Given the description of an element on the screen output the (x, y) to click on. 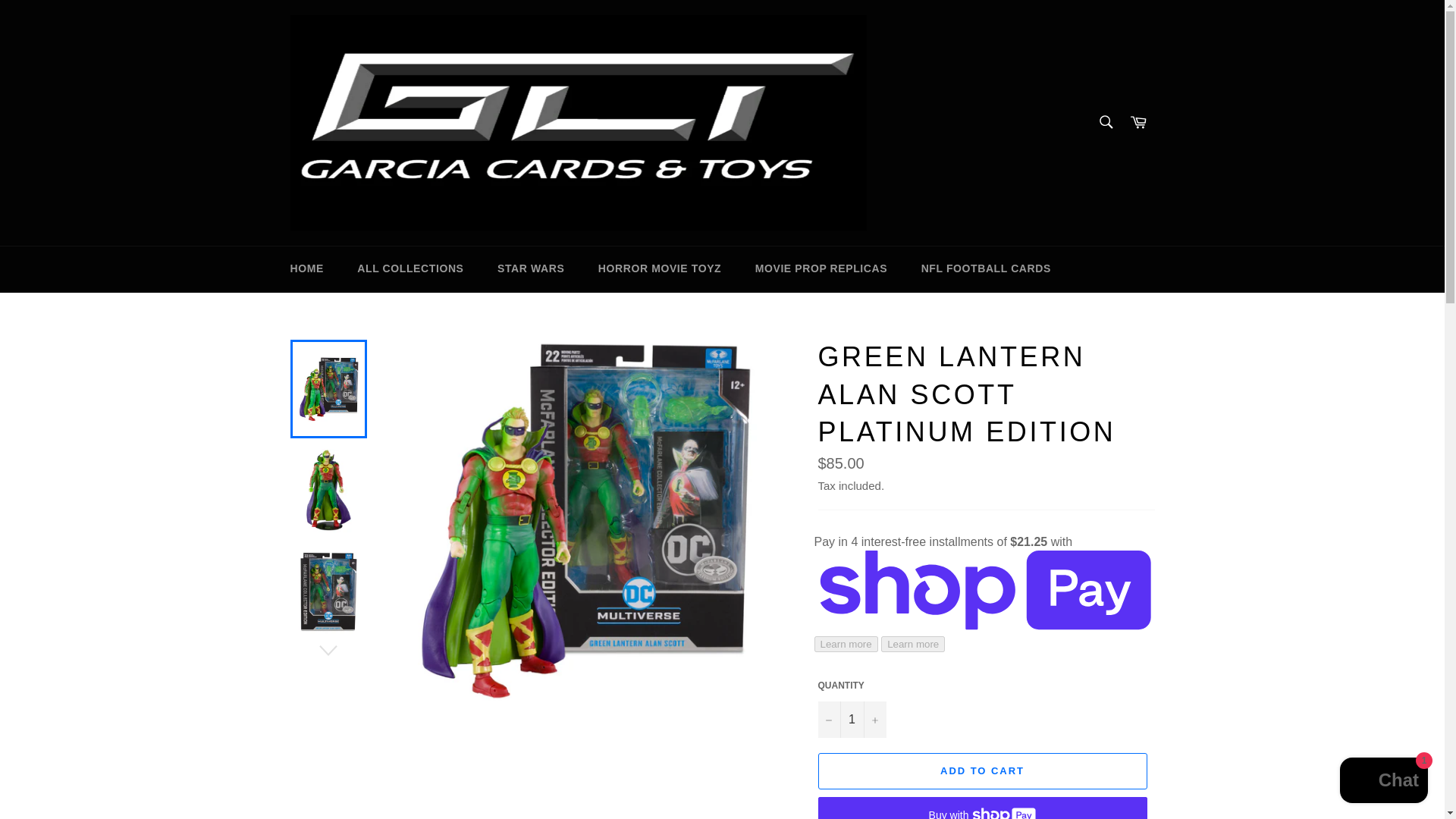
NFL FOOTBALL CARDS (985, 268)
1 (850, 719)
ALL COLLECTIONS (410, 268)
HOME (306, 268)
Cart (1138, 123)
STAR WARS (530, 268)
Search (1104, 122)
HORROR MOVIE TOYZ (659, 268)
MOVIE PROP REPLICAS (820, 268)
Shopify online store chat (1383, 781)
